Given the description of an element on the screen output the (x, y) to click on. 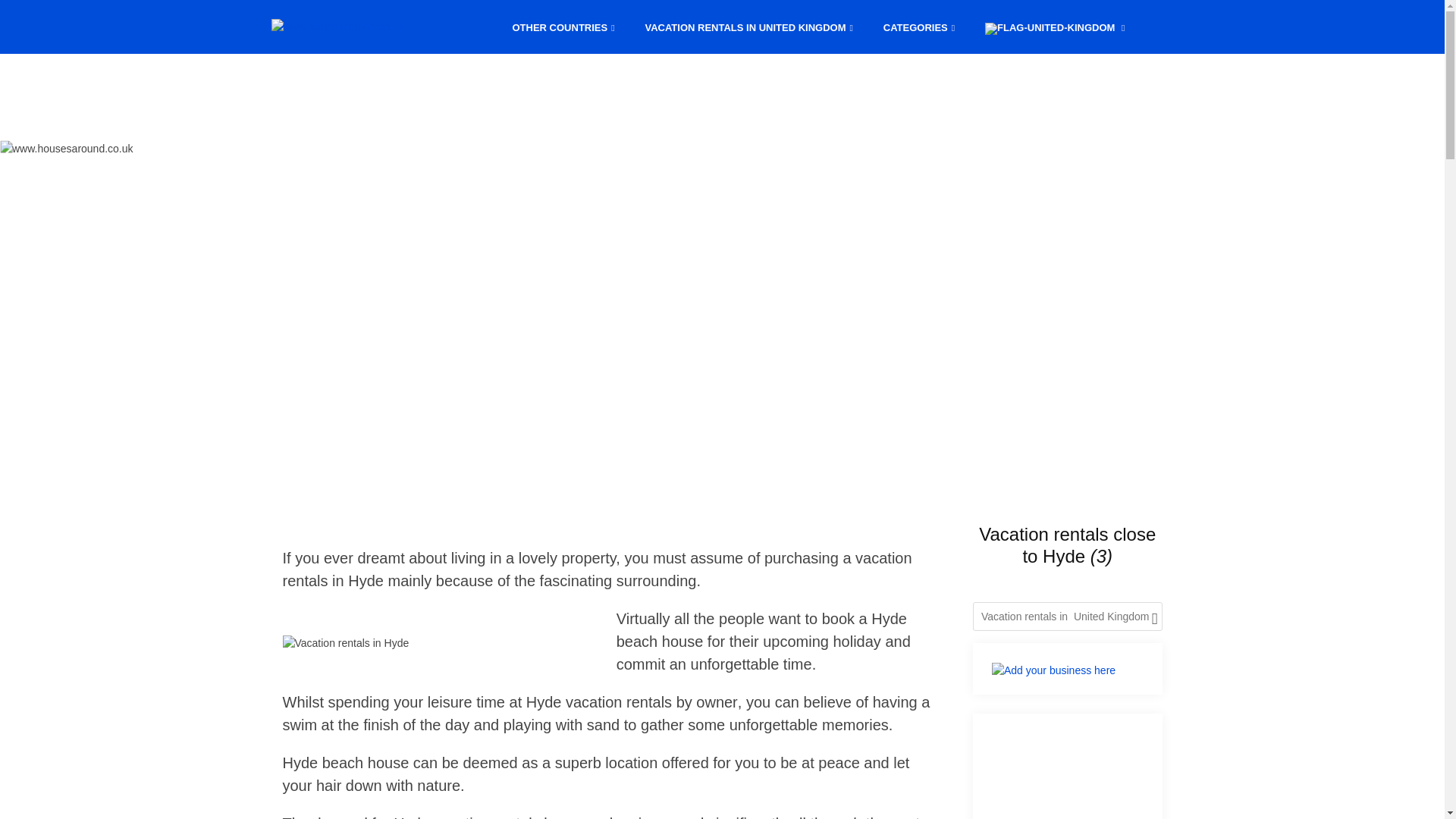
VACATION RENTALS IN UNITED KINGDOM (748, 25)
OTHER COUNTRIES (563, 25)
CATEGORIES (918, 25)
